Given the description of an element on the screen output the (x, y) to click on. 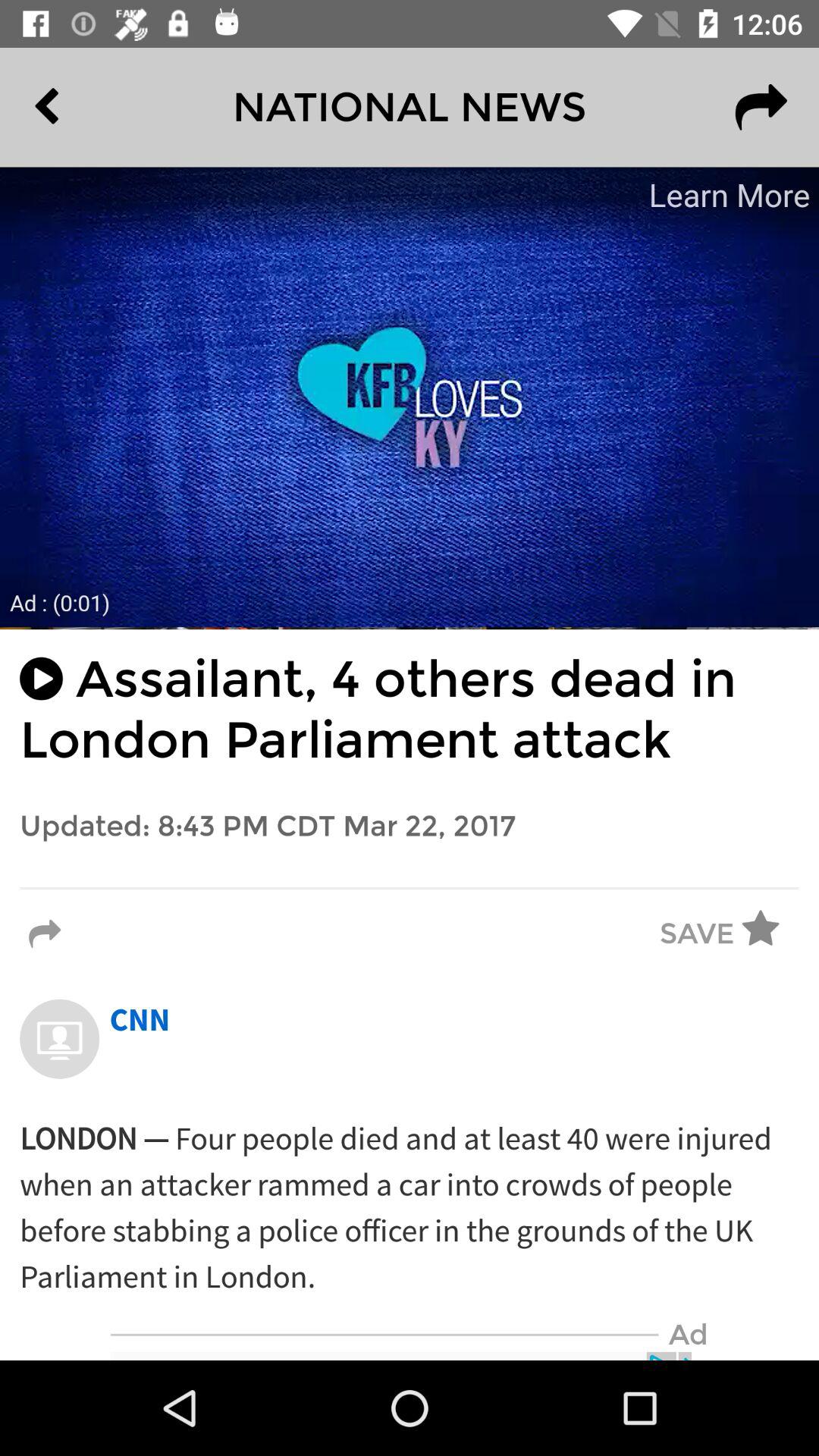
open the icon to the left of save item (44, 934)
